Given the description of an element on the screen output the (x, y) to click on. 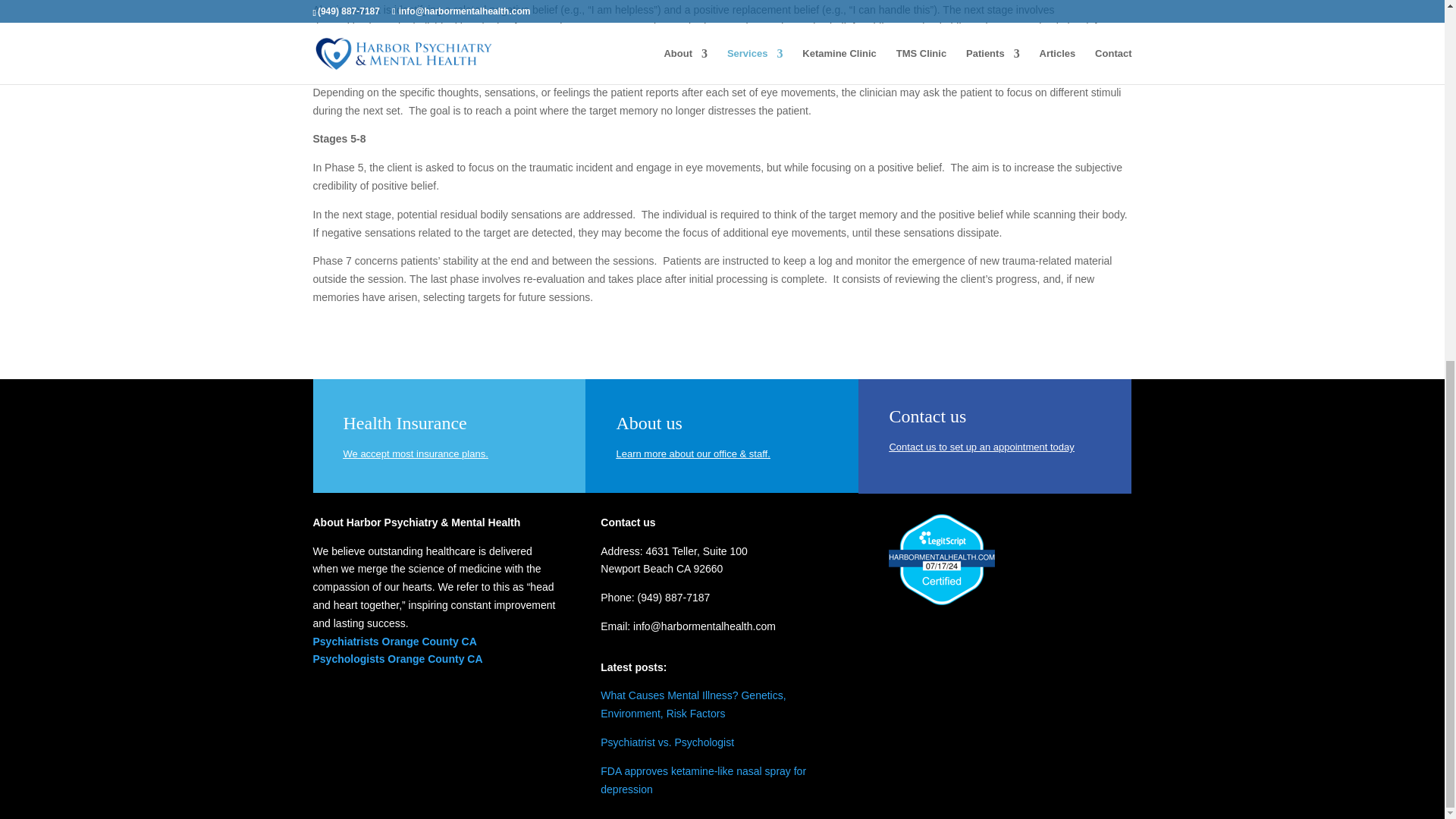
Verify LegitScript Approval (941, 601)
FDA approves ketamine-like nasal spray for depression (702, 779)
Psychiatrist vs. Psychologist (666, 742)
